Given the description of an element on the screen output the (x, y) to click on. 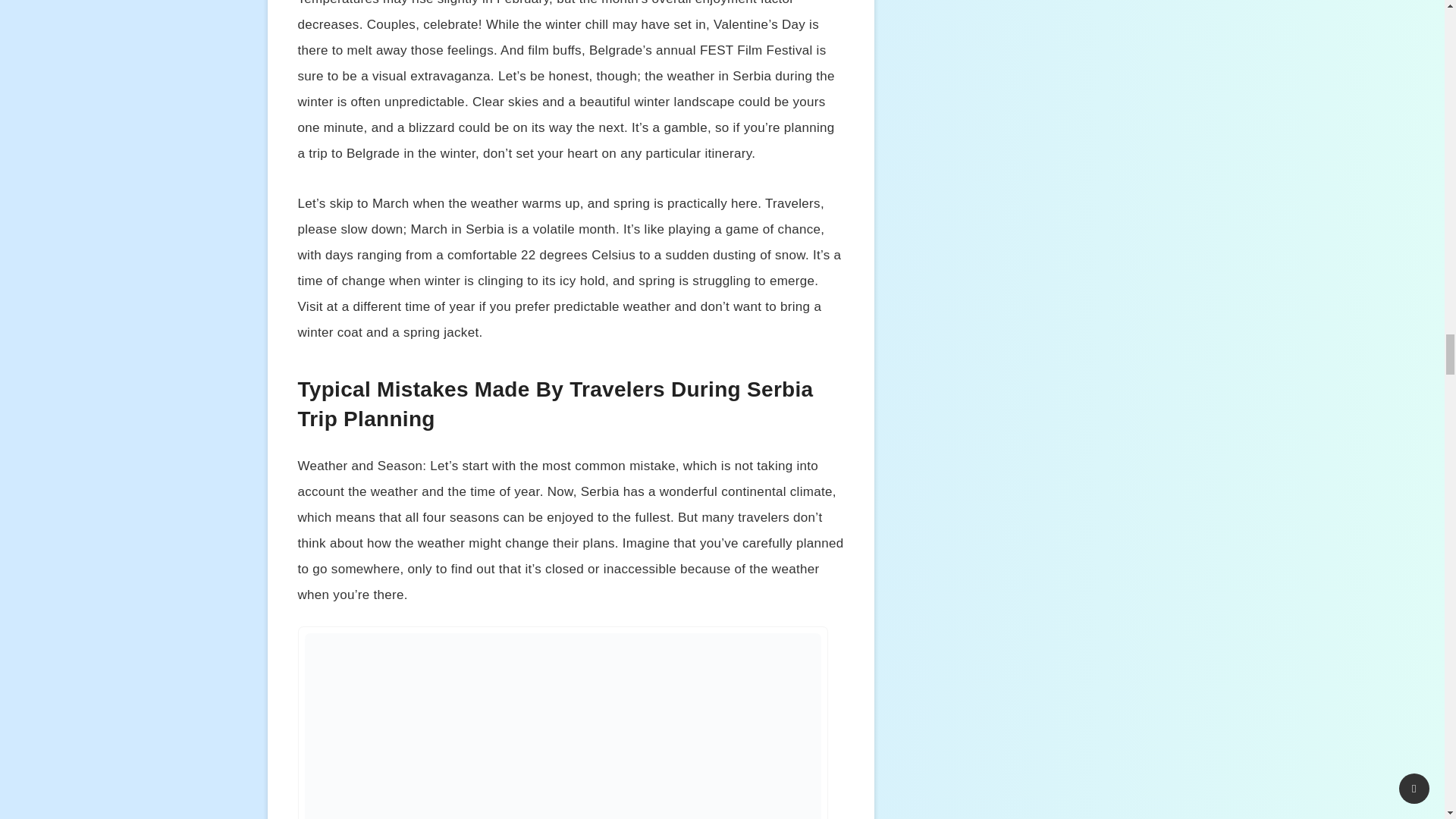
Novi Sad, Serbia (562, 726)
